Given the description of an element on the screen output the (x, y) to click on. 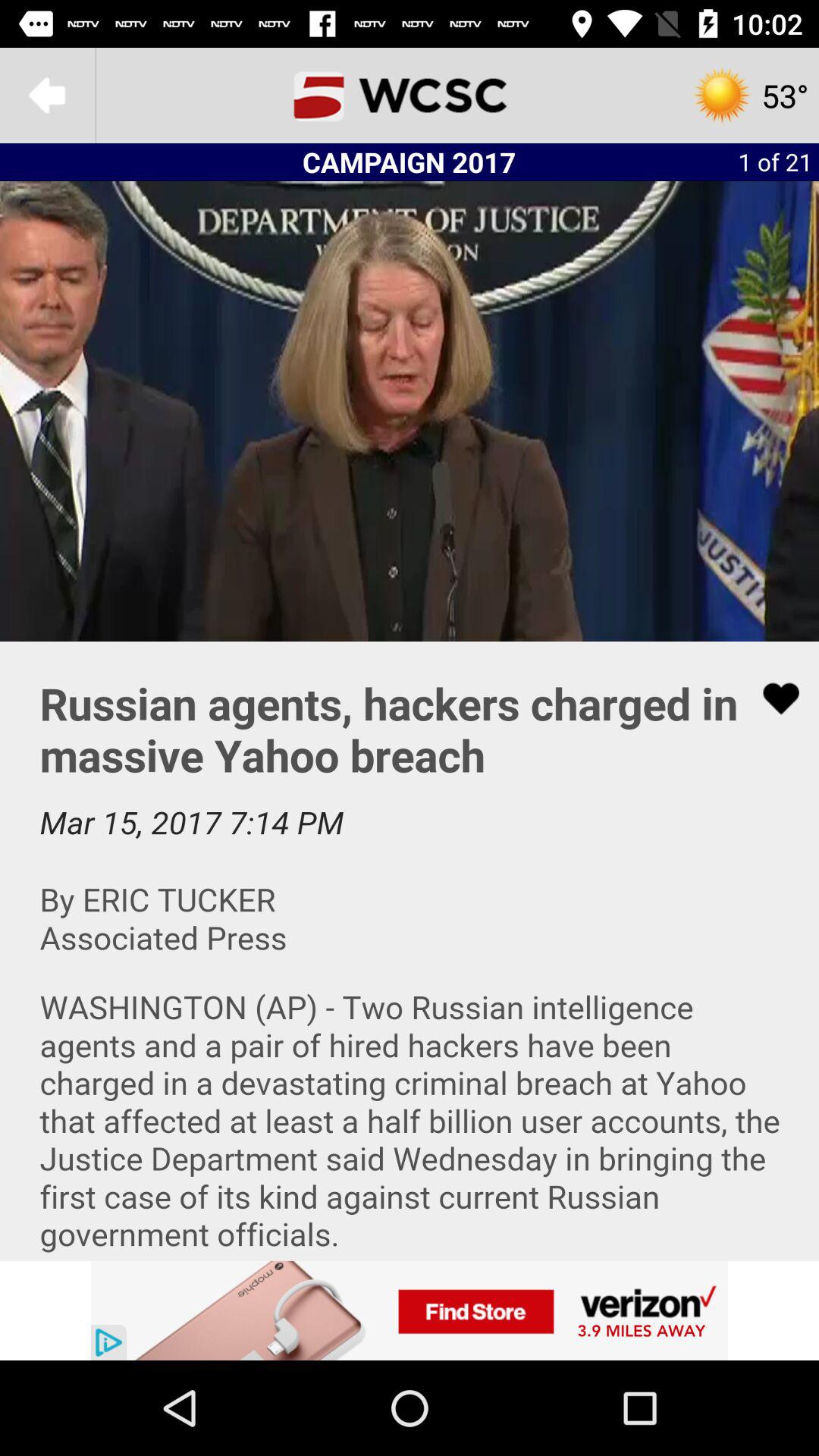
selecting favorite option (771, 698)
